Given the description of an element on the screen output the (x, y) to click on. 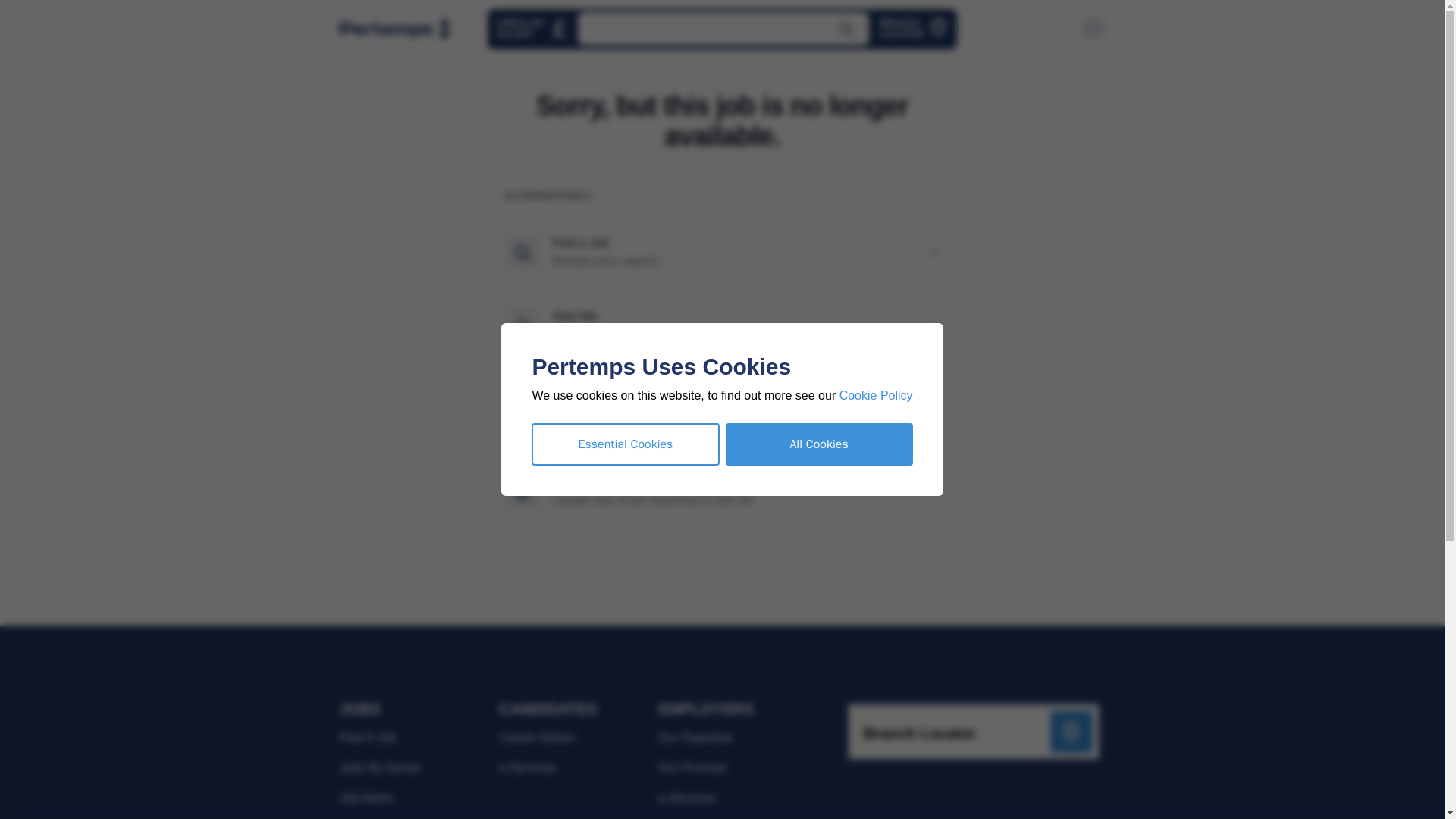
Open Navigation (1098, 28)
Go to Salary Health Checker (537, 28)
Home (399, 28)
Go to Job Search (729, 28)
All Cookies (824, 444)
Go to Branch Locator (919, 28)
Cookie Policy (537, 28)
Essential Cookies (919, 28)
